Given the description of an element on the screen output the (x, y) to click on. 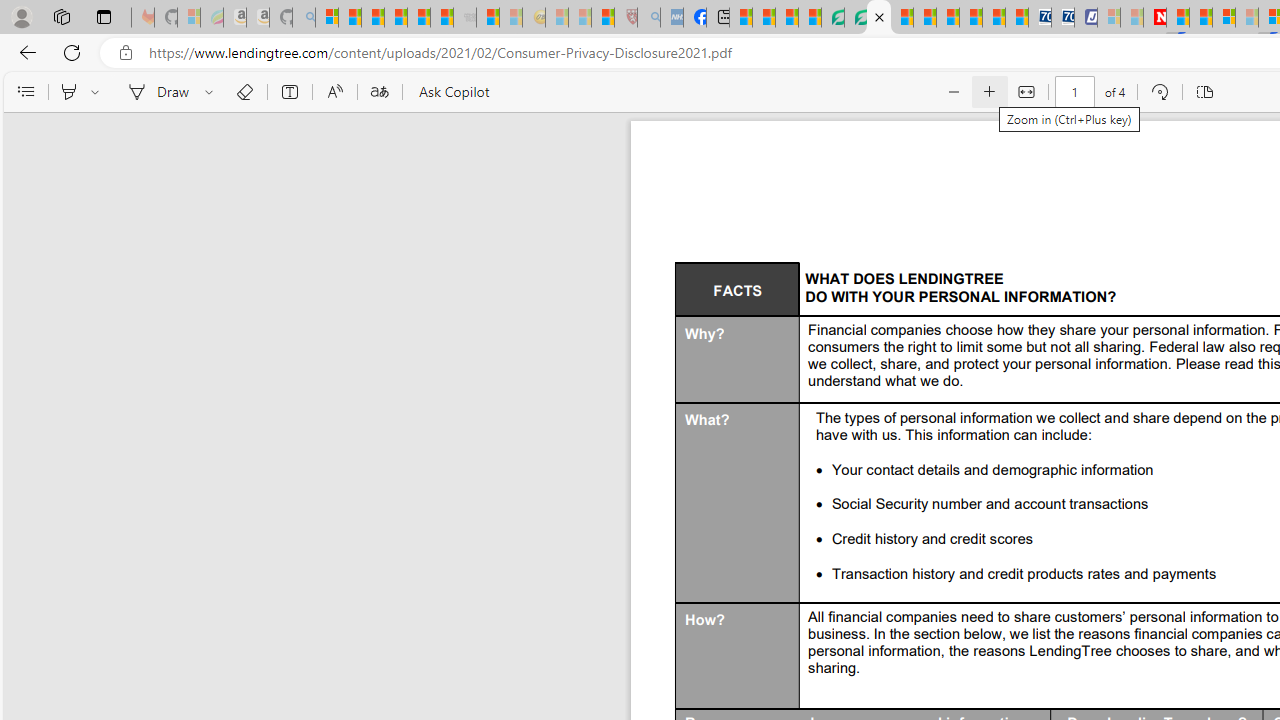
Page number (1073, 92)
Latest Politics News & Archive | Newsweek.com (1155, 17)
Add text (289, 92)
Rotate (Ctrl+]) (1159, 92)
Select ink properties (212, 92)
